Given the description of an element on the screen output the (x, y) to click on. 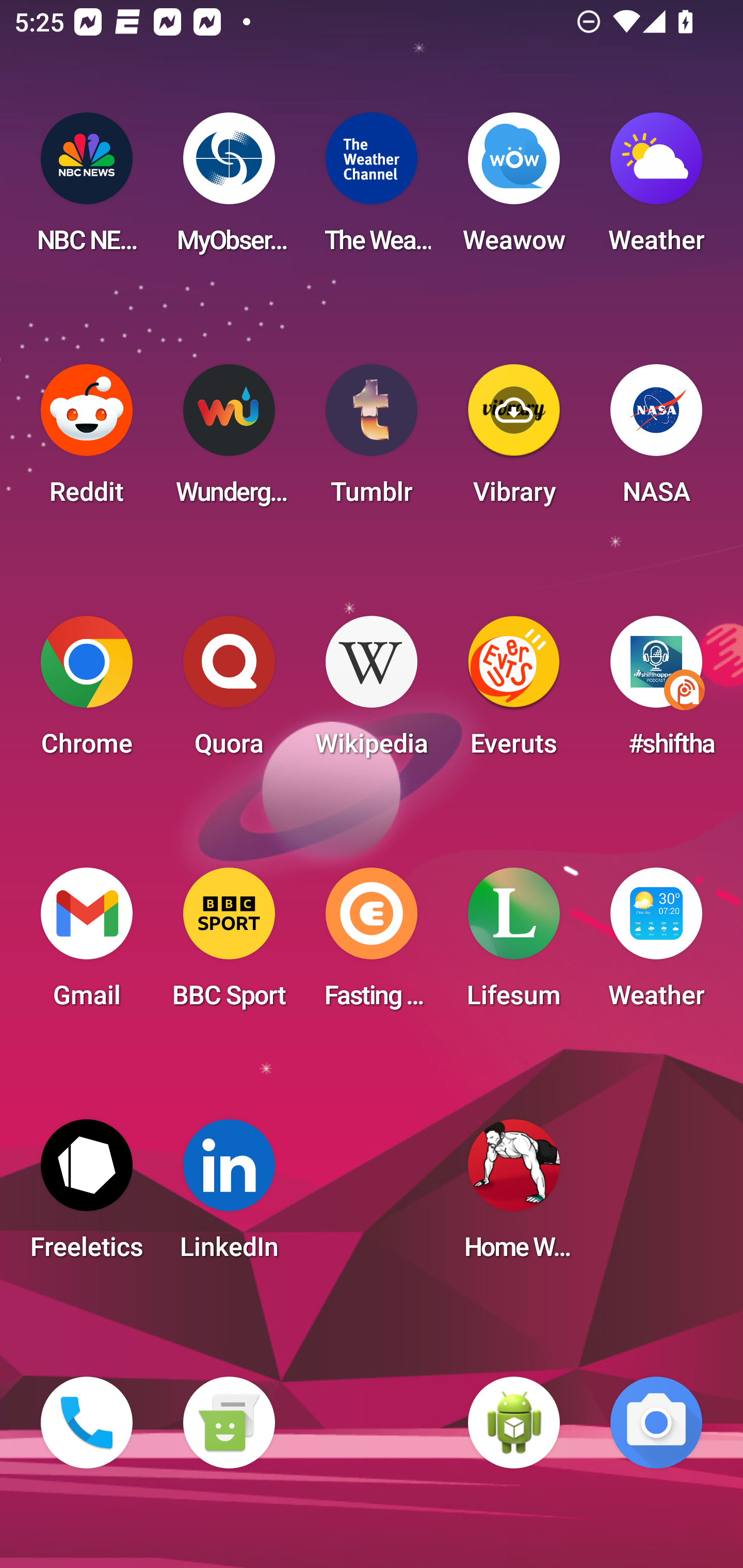
NBC NEWS (86, 188)
MyObservatory (228, 188)
The Weather Channel (371, 188)
Weawow (513, 188)
Weather (656, 188)
Reddit (86, 440)
Wunderground (228, 440)
Tumblr (371, 440)
Vibrary (513, 440)
NASA (656, 440)
Chrome (86, 692)
Quora (228, 692)
Wikipedia (371, 692)
Everuts (513, 692)
#shifthappens in the Digital Workplace Podcast (656, 692)
Gmail (86, 943)
BBC Sport (228, 943)
Fasting Coach (371, 943)
Lifesum (513, 943)
Weather (656, 943)
Freeletics (86, 1195)
LinkedIn (228, 1195)
Home Workout (513, 1195)
Phone (86, 1422)
Messaging (228, 1422)
WebView Browser Tester (513, 1422)
Camera (656, 1422)
